Given the description of an element on the screen output the (x, y) to click on. 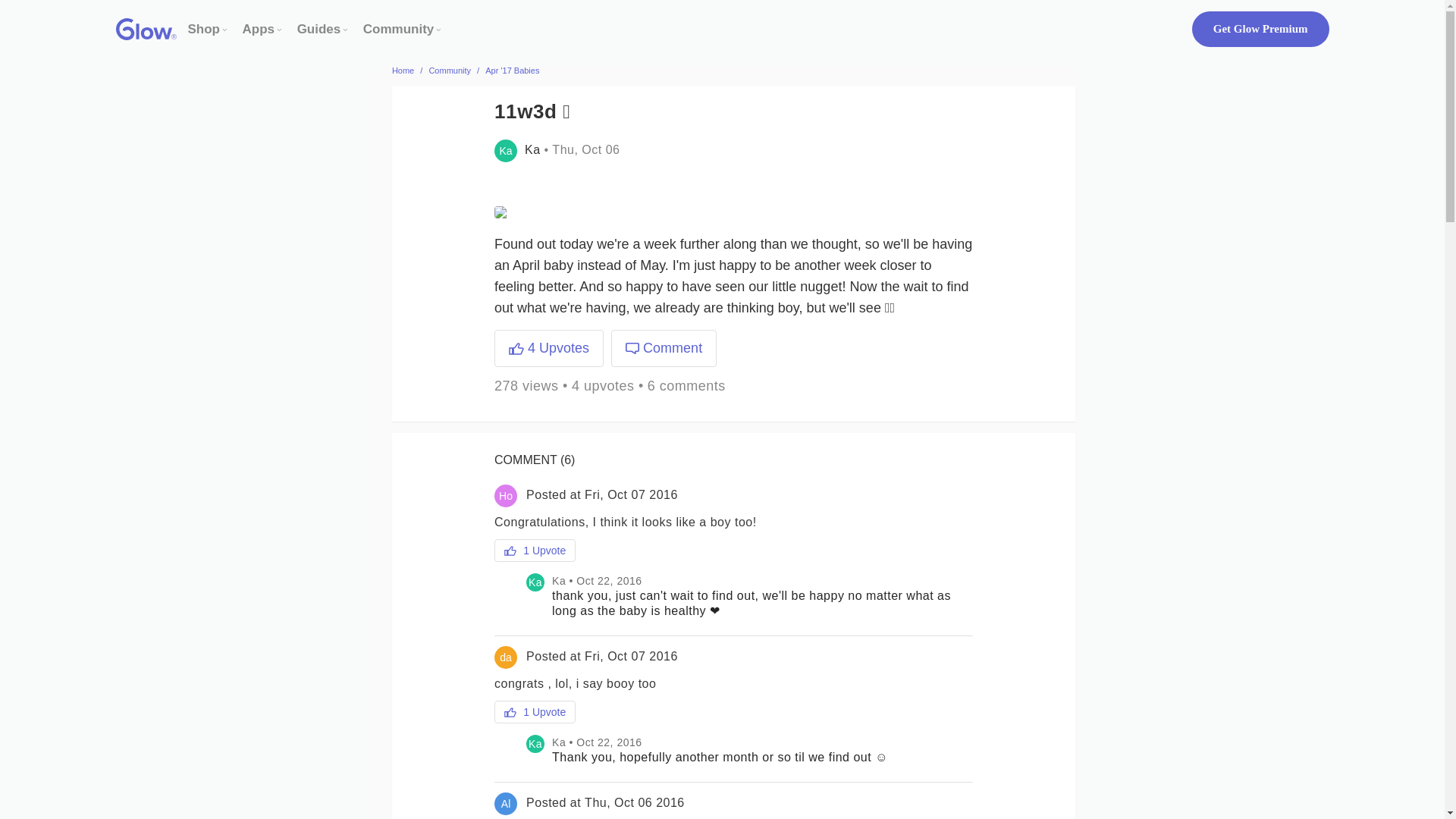
Guides (318, 28)
Glow Community (397, 28)
Shop (204, 28)
Apps (259, 28)
Glow Shop (204, 28)
Community (397, 28)
